Given the description of an element on the screen output the (x, y) to click on. 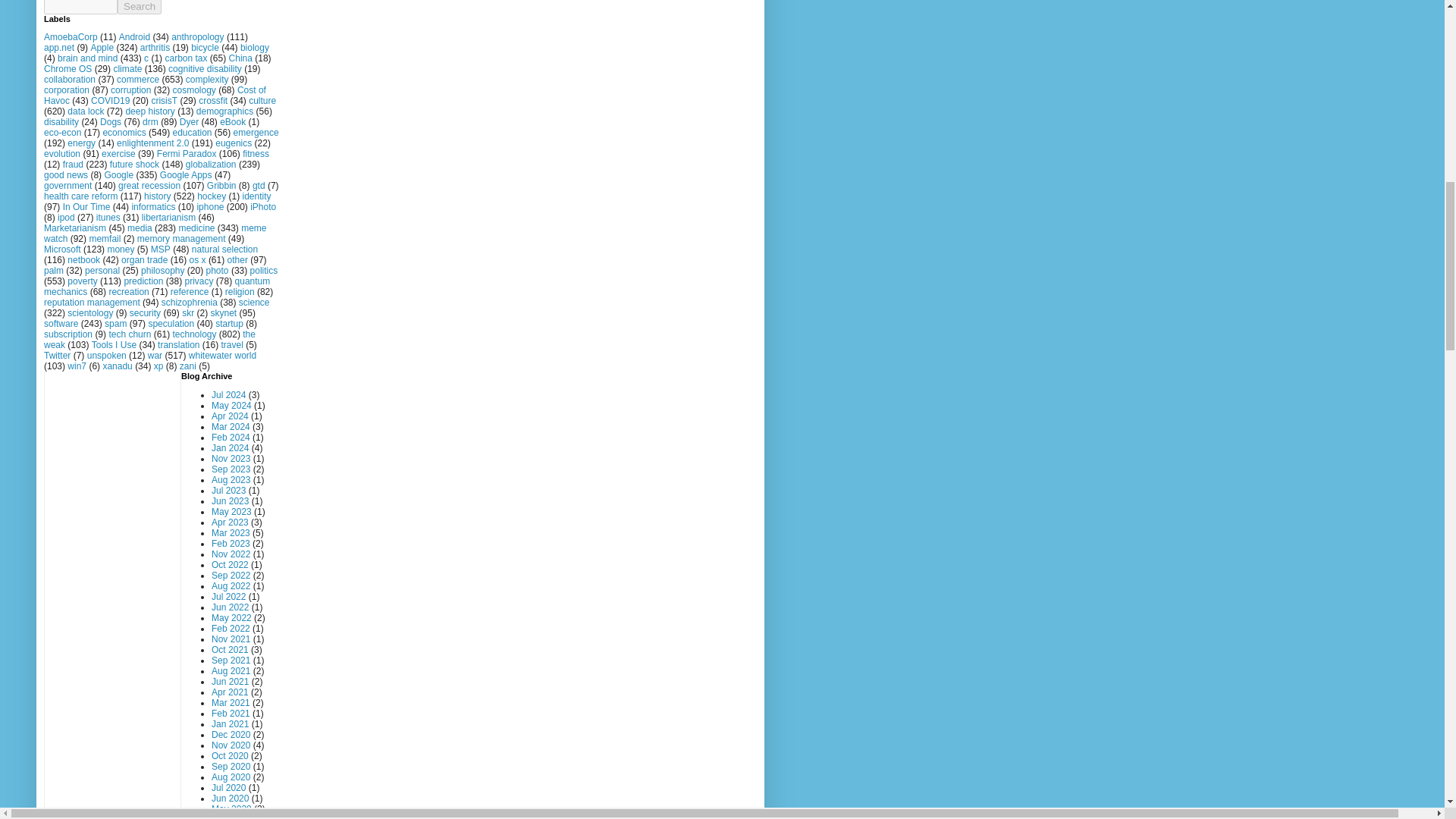
Apple (101, 47)
arthritis (154, 47)
bicycle (204, 47)
biology (254, 47)
Android (134, 36)
Search (139, 7)
search (139, 7)
search (80, 7)
brain and mind (87, 58)
Search (139, 7)
app.net (58, 47)
Search (139, 7)
AmoebaCorp (70, 36)
anthropology (197, 36)
